Given the description of an element on the screen output the (x, y) to click on. 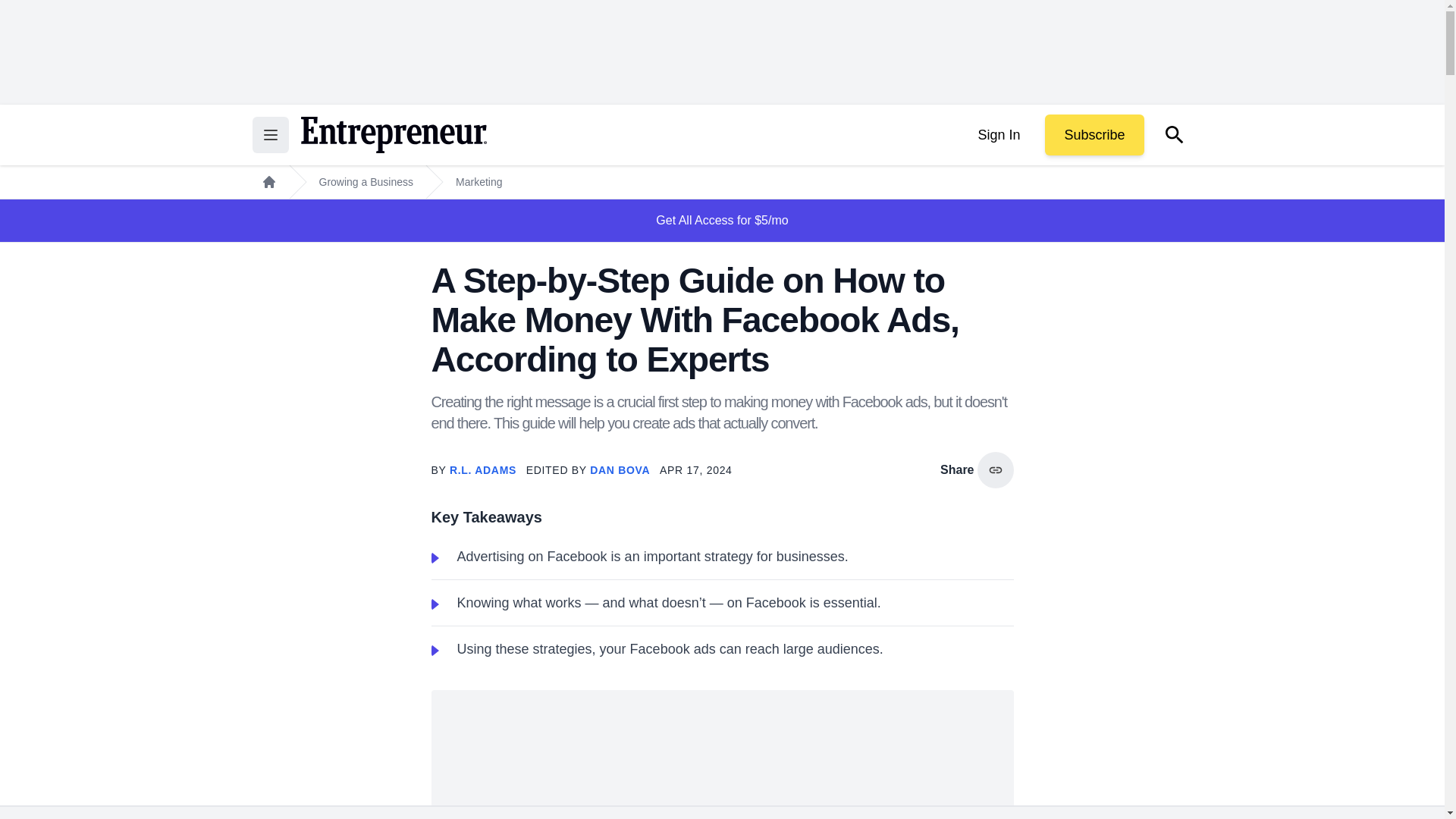
Return to the home page (392, 135)
copy (994, 470)
Sign In (998, 134)
Subscribe (1093, 134)
